Given the description of an element on the screen output the (x, y) to click on. 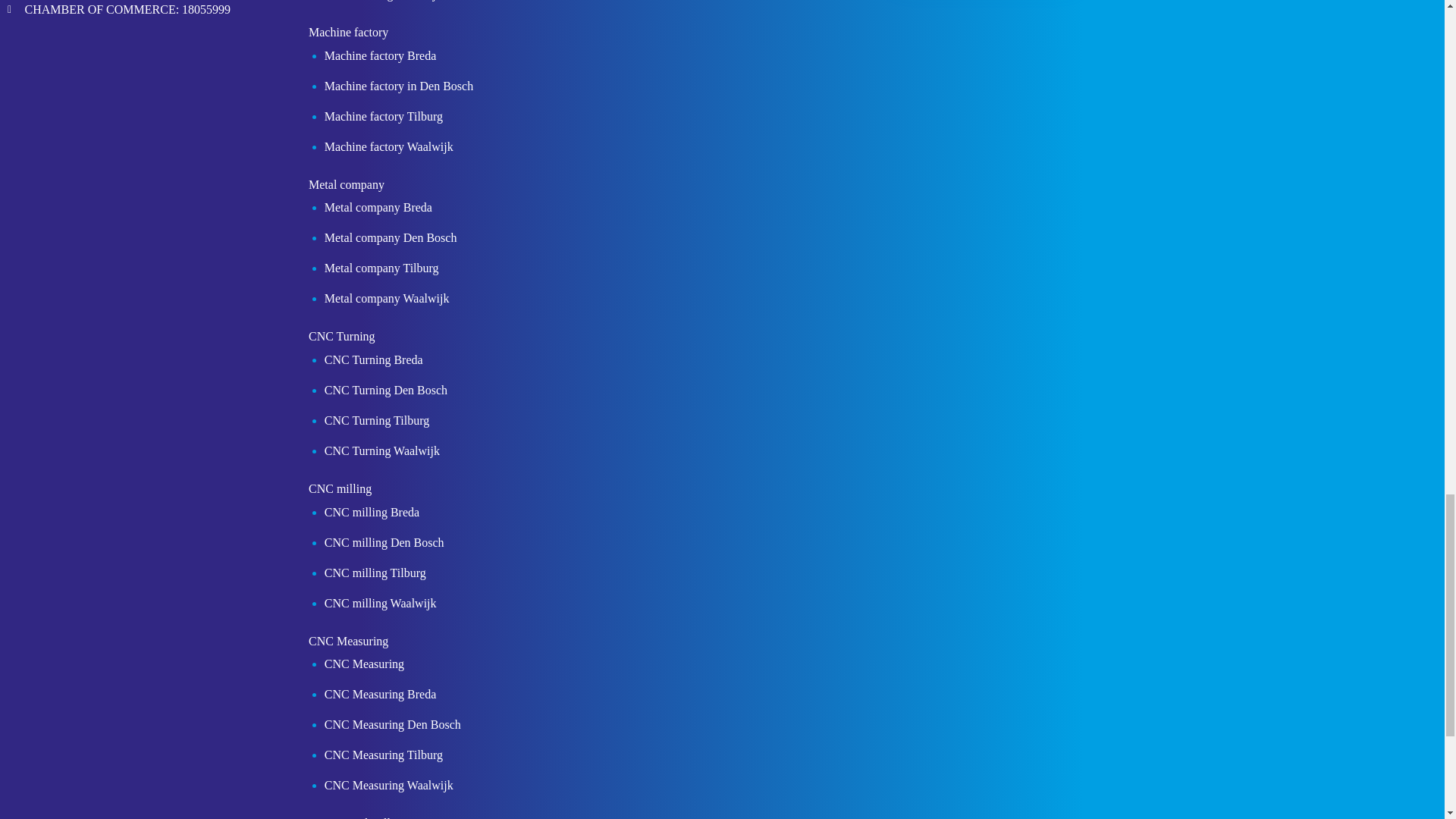
CNC Measuring (342, 644)
Metal company (340, 188)
Turning and milling (351, 817)
CNC milling (334, 492)
Machine factory (342, 35)
CNC Turning (336, 340)
